Given the description of an element on the screen output the (x, y) to click on. 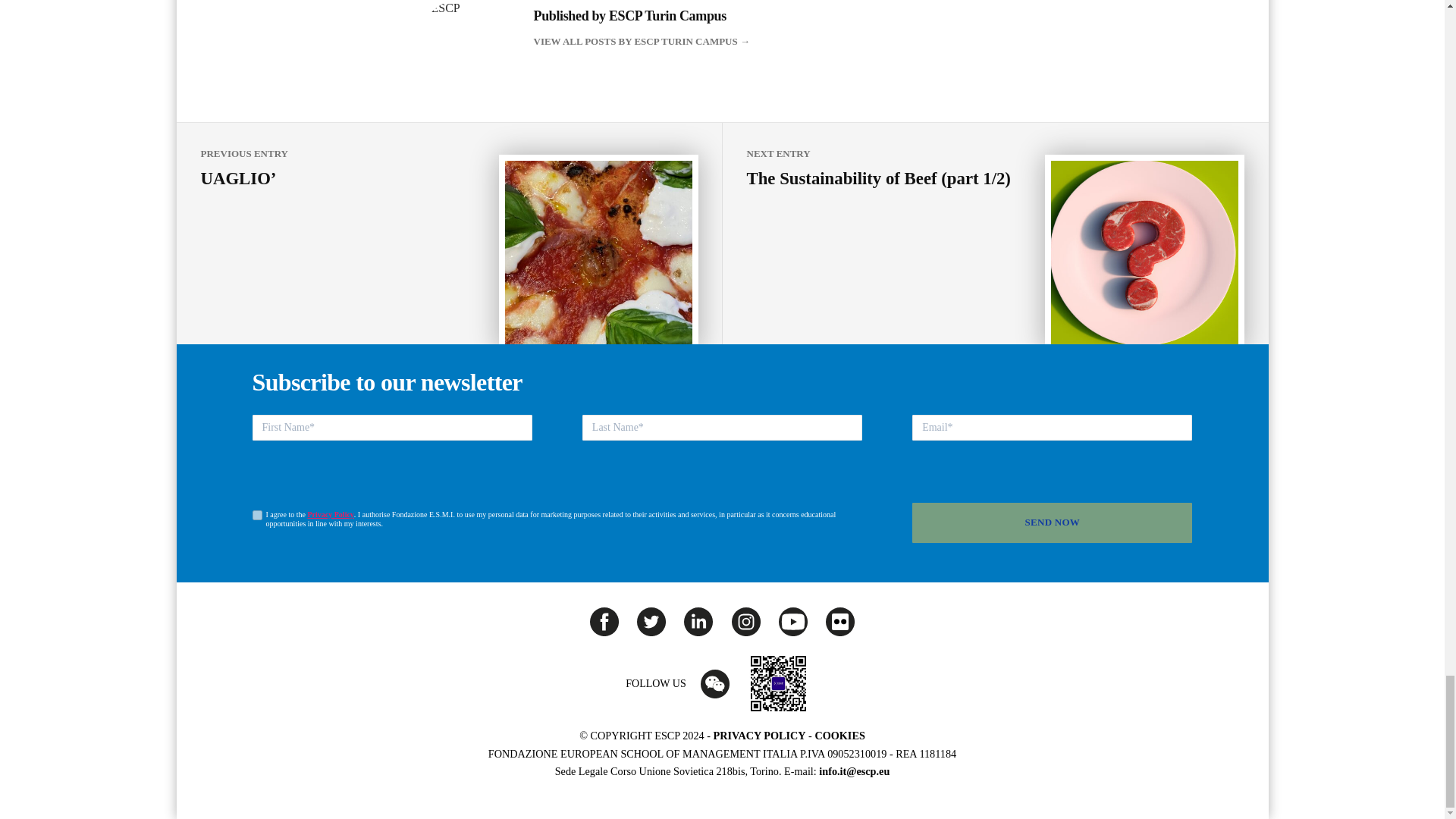
Send now (1052, 522)
Send now (1052, 522)
Privacy Policy (330, 514)
VIEW ALL POSTS BY ESCP TURIN CAMPUS (780, 41)
1 (256, 515)
